Given the description of an element on the screen output the (x, y) to click on. 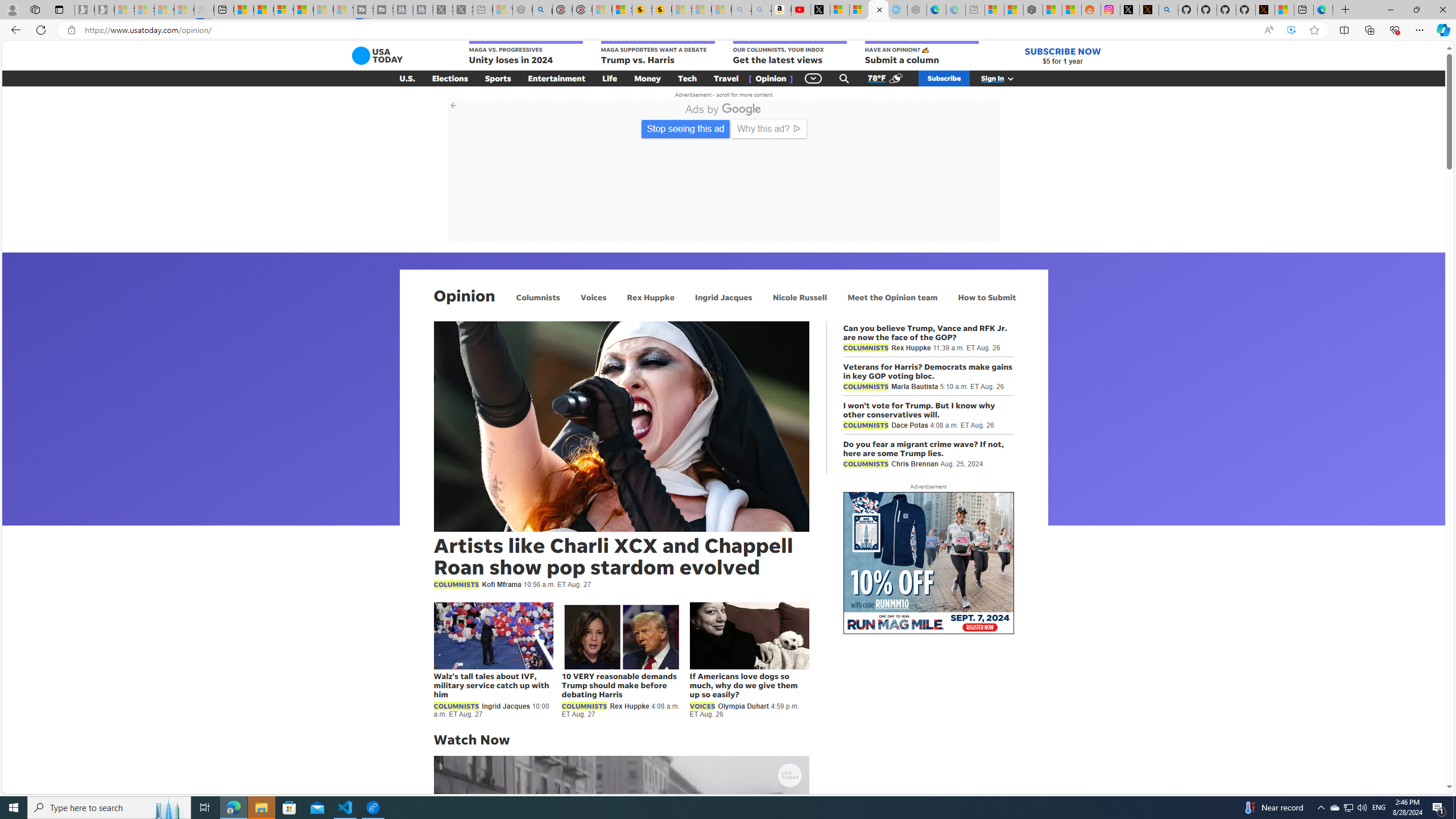
Voices (593, 296)
Overview (283, 9)
Class: gnt_n_dd_bt_svg (813, 78)
Temenos (754, 218)
The most popular Google 'how to' searches - Sleeping (897, 9)
